Given the description of an element on the screen output the (x, y) to click on. 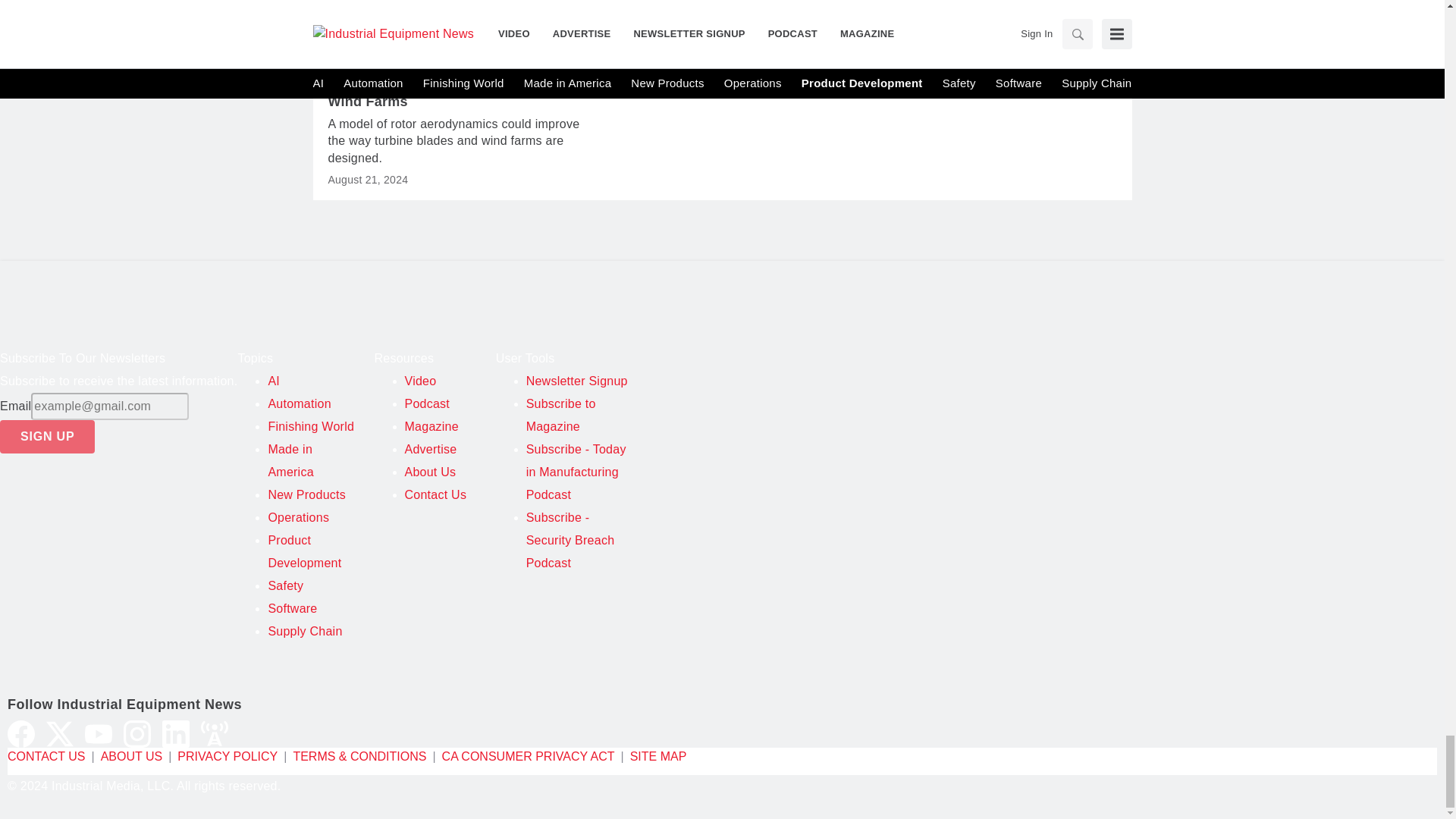
Instagram icon (137, 733)
YouTube icon (98, 733)
Facebook icon (20, 733)
LinkedIn icon (175, 733)
Twitter X icon (60, 733)
